Given the description of an element on the screen output the (x, y) to click on. 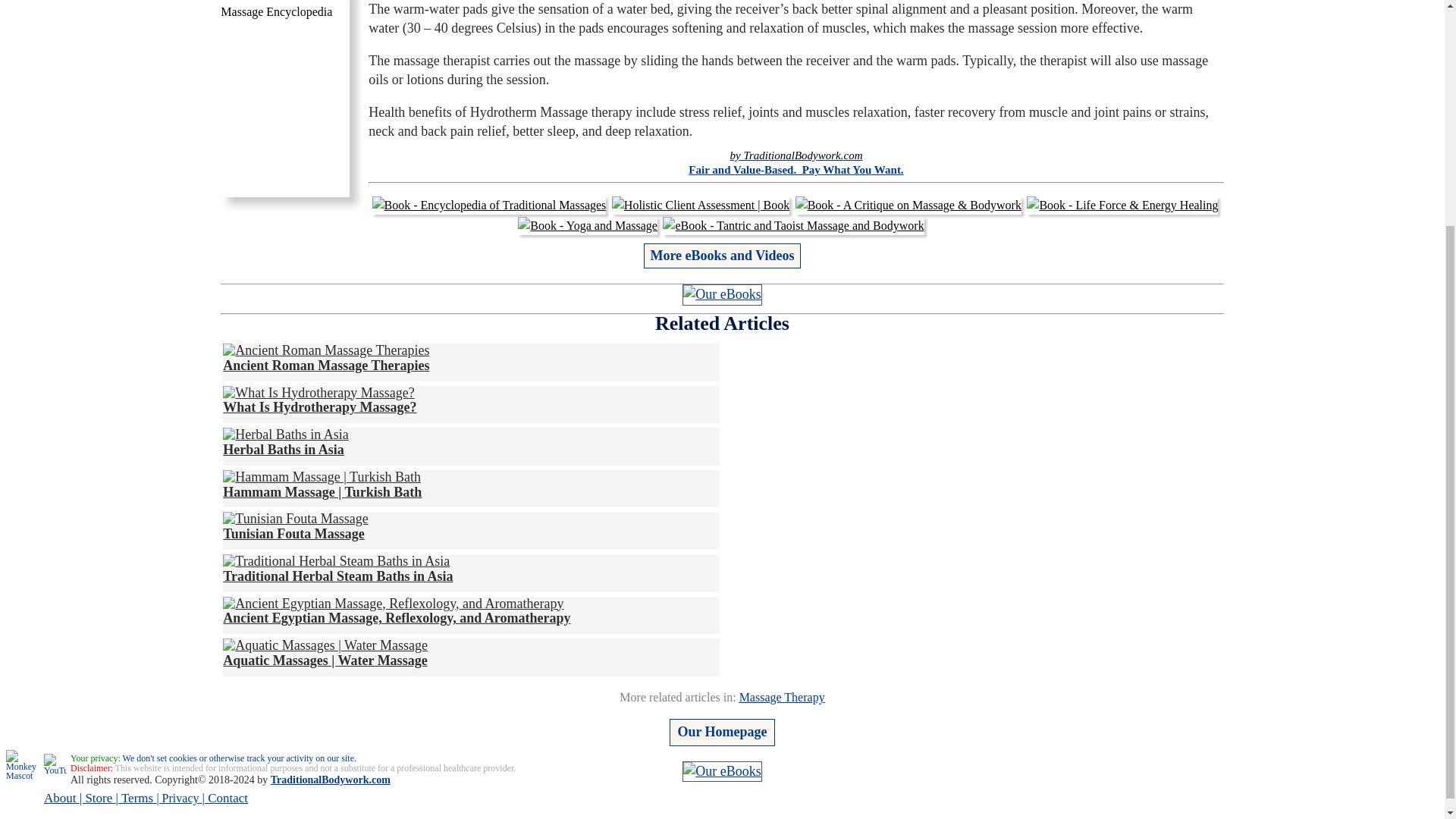
What Is Hydrotherapy Massage? (317, 393)
What Is Hydrotherapy Massage? (319, 399)
Our eBooks (721, 294)
More eBooks and Videos (721, 254)
eBook - Yoga and Massage (588, 226)
Herbal Baths in Asia (284, 435)
Ancient Roman Massage Therapies (325, 358)
Our Homepage (721, 731)
Herbal Baths in Asia (284, 441)
eBook - Tantric and Taoist Massage and Bodywork (792, 226)
